Given the description of an element on the screen output the (x, y) to click on. 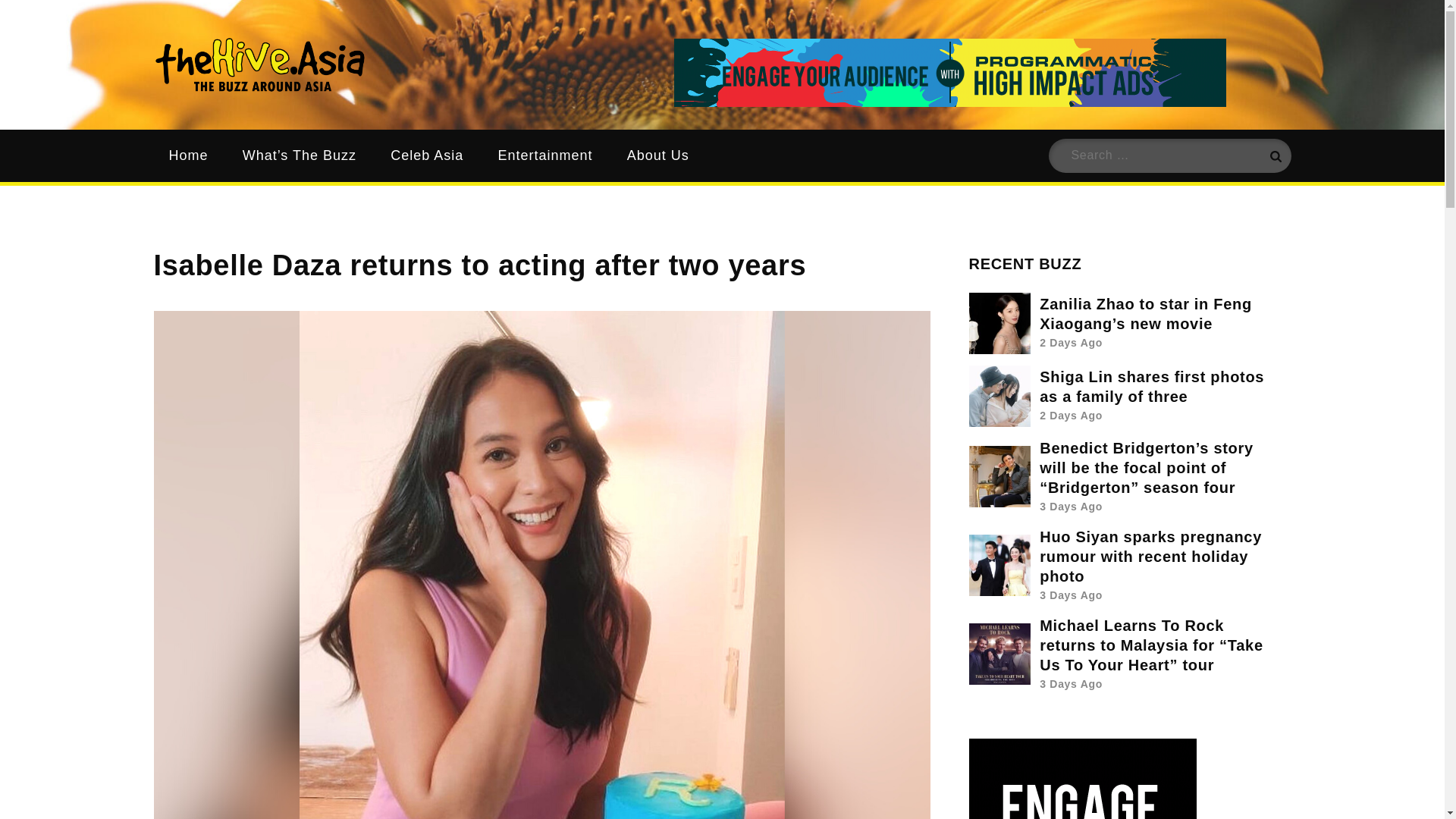
3 Days Ago (1070, 684)
Celeb Asia (427, 154)
3 Days Ago (1070, 594)
Shiga Lin shares first photos as a family of three (1151, 386)
theHive.Asia (479, 82)
3rd party ad content (1082, 778)
About Us (657, 154)
2 Days Ago (1070, 342)
3rd party ad content (948, 72)
Home (187, 154)
2 Days Ago (1070, 415)
Entertainment (544, 154)
3 Days Ago (1070, 506)
Huo Siyan sparks pregnancy rumour with recent holiday photo (1150, 556)
